Given the description of an element on the screen output the (x, y) to click on. 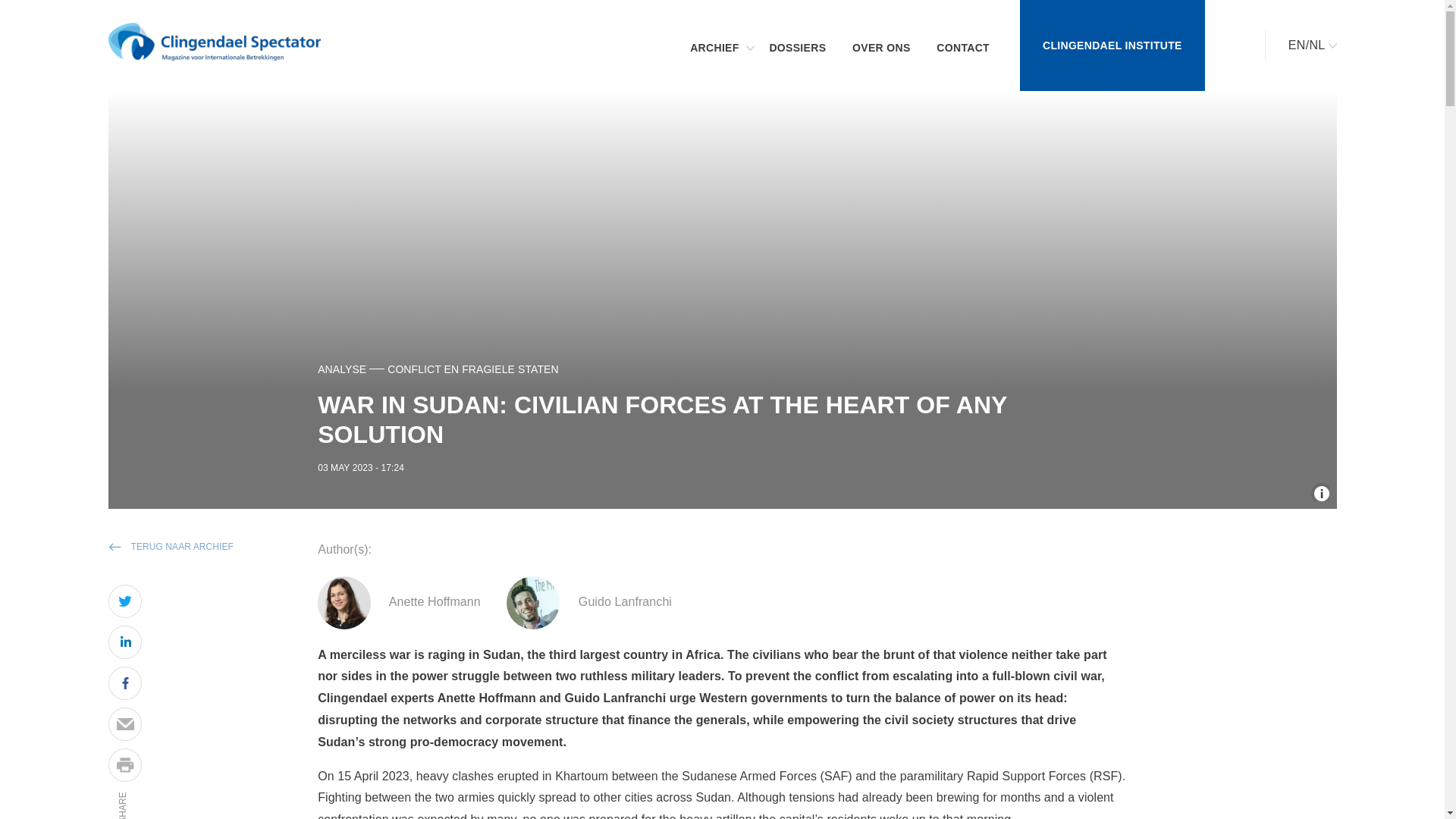
CLINGENDAEL INSTITUTE (1112, 45)
Anette Hoffmann (344, 602)
Guido Lanfranchi (532, 602)
